Given the description of an element on the screen output the (x, y) to click on. 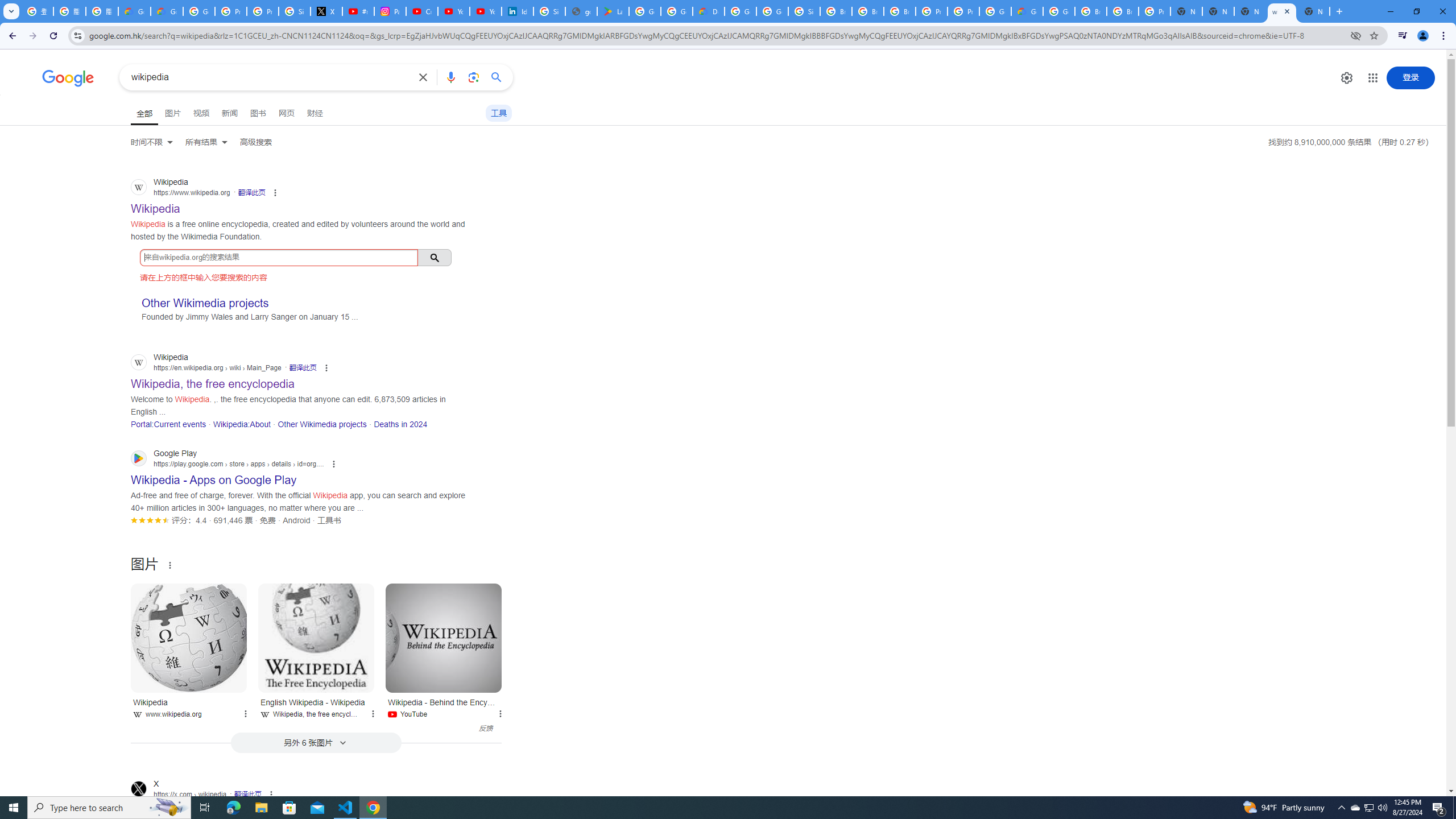
Browse Chrome as a guest - Computer - Google Chrome Help (868, 11)
Sign in - Google Accounts (804, 11)
New Tab (1185, 11)
Other Wikimedia projects (322, 424)
google_privacy_policy_en.pdf (581, 11)
English Wikipedia - Wikipedia (315, 637)
